Given the description of an element on the screen output the (x, y) to click on. 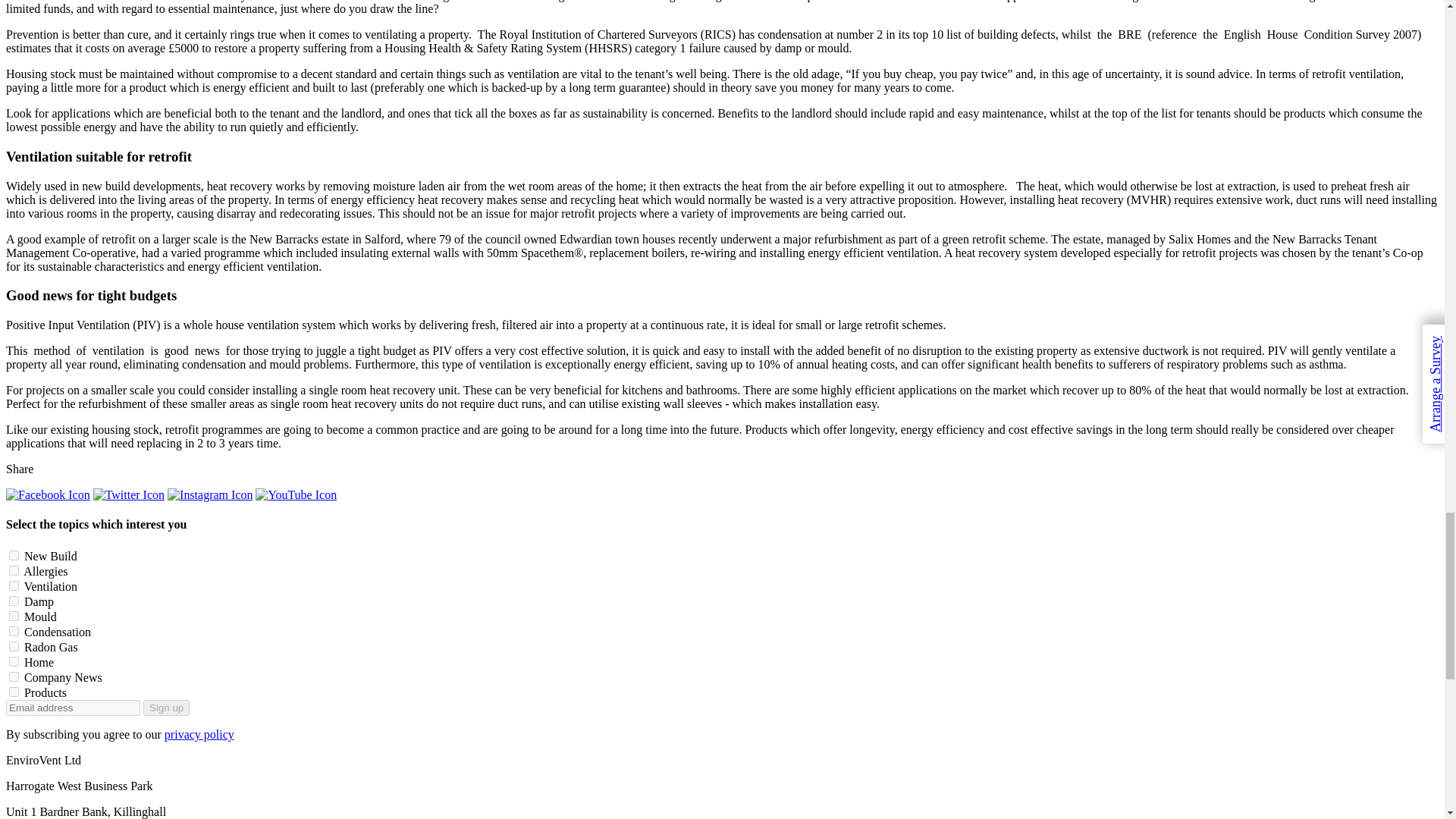
Damp (13, 601)
Radon Gas (13, 646)
Mould (13, 615)
New Build (13, 555)
Condensation (13, 631)
Products (13, 691)
Home (13, 661)
Ventilation (13, 585)
Allergies (13, 570)
Company News (13, 676)
